Given the description of an element on the screen output the (x, y) to click on. 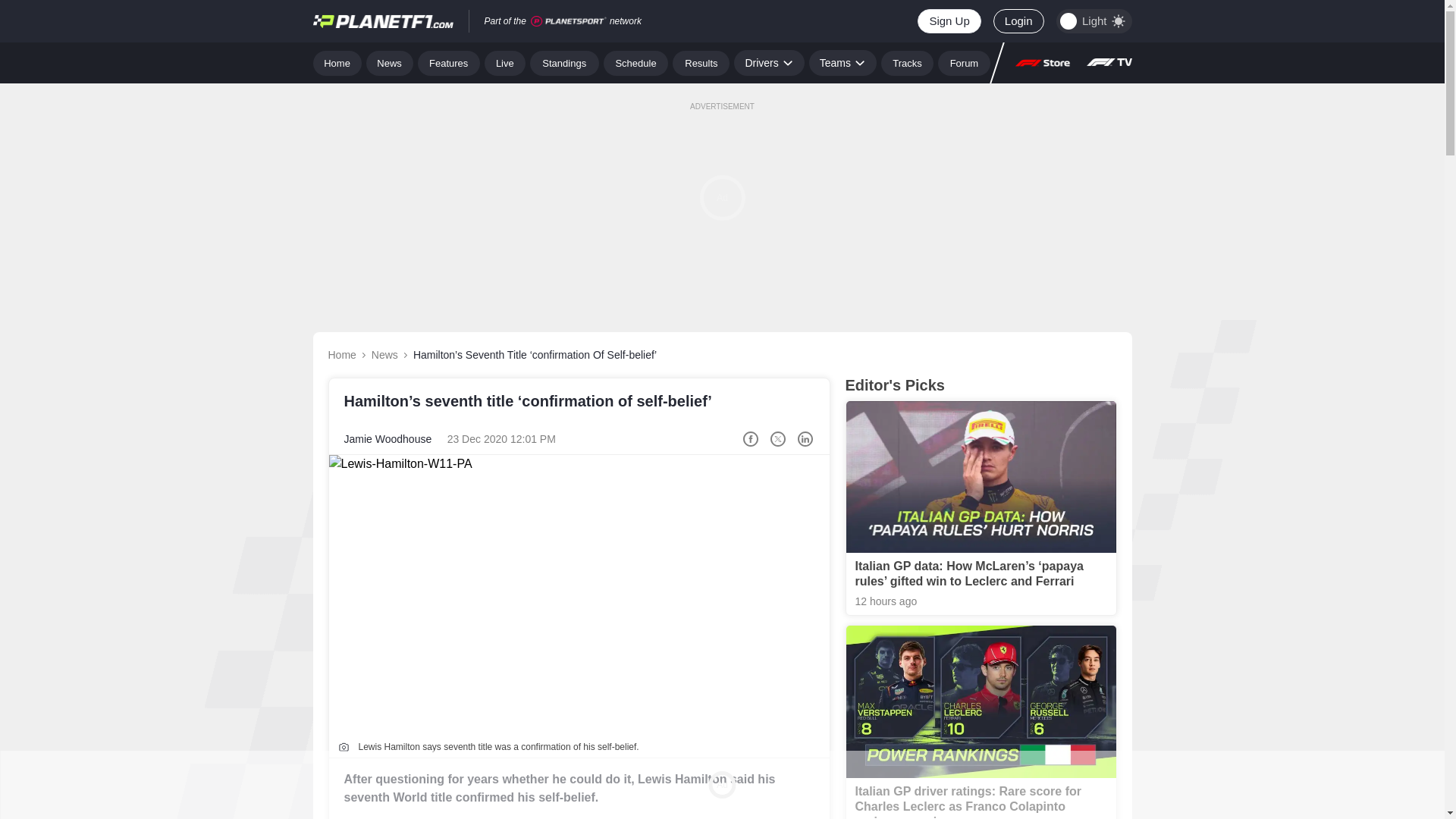
Live (504, 62)
Results (700, 62)
Standings (563, 62)
Features (448, 62)
Sign Up (948, 21)
News (389, 62)
Drivers (768, 62)
Teams (842, 62)
Schedule (636, 62)
Home (337, 62)
